Given the description of an element on the screen output the (x, y) to click on. 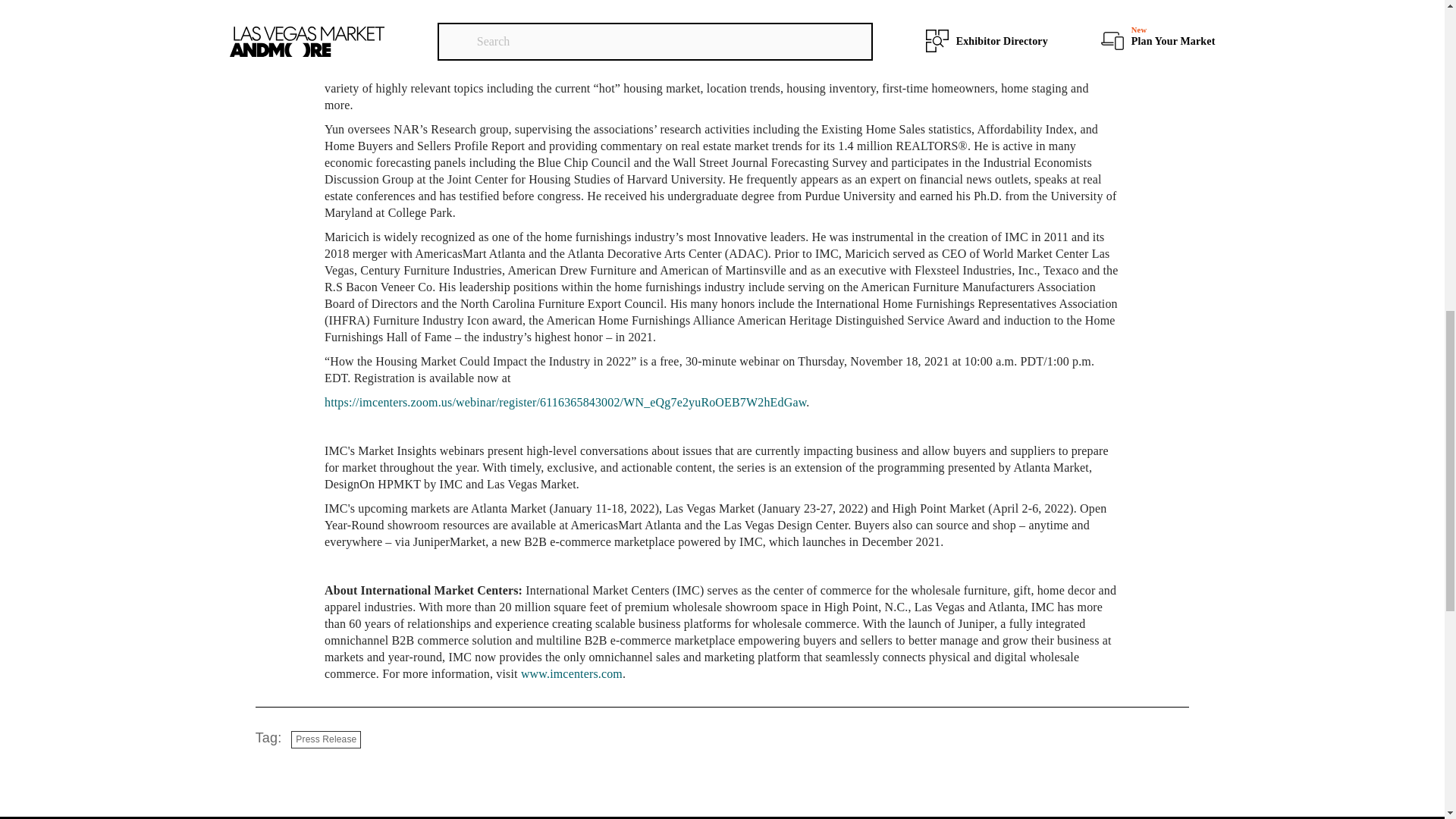
www.imcenters.com (572, 673)
